Given the description of an element on the screen output the (x, y) to click on. 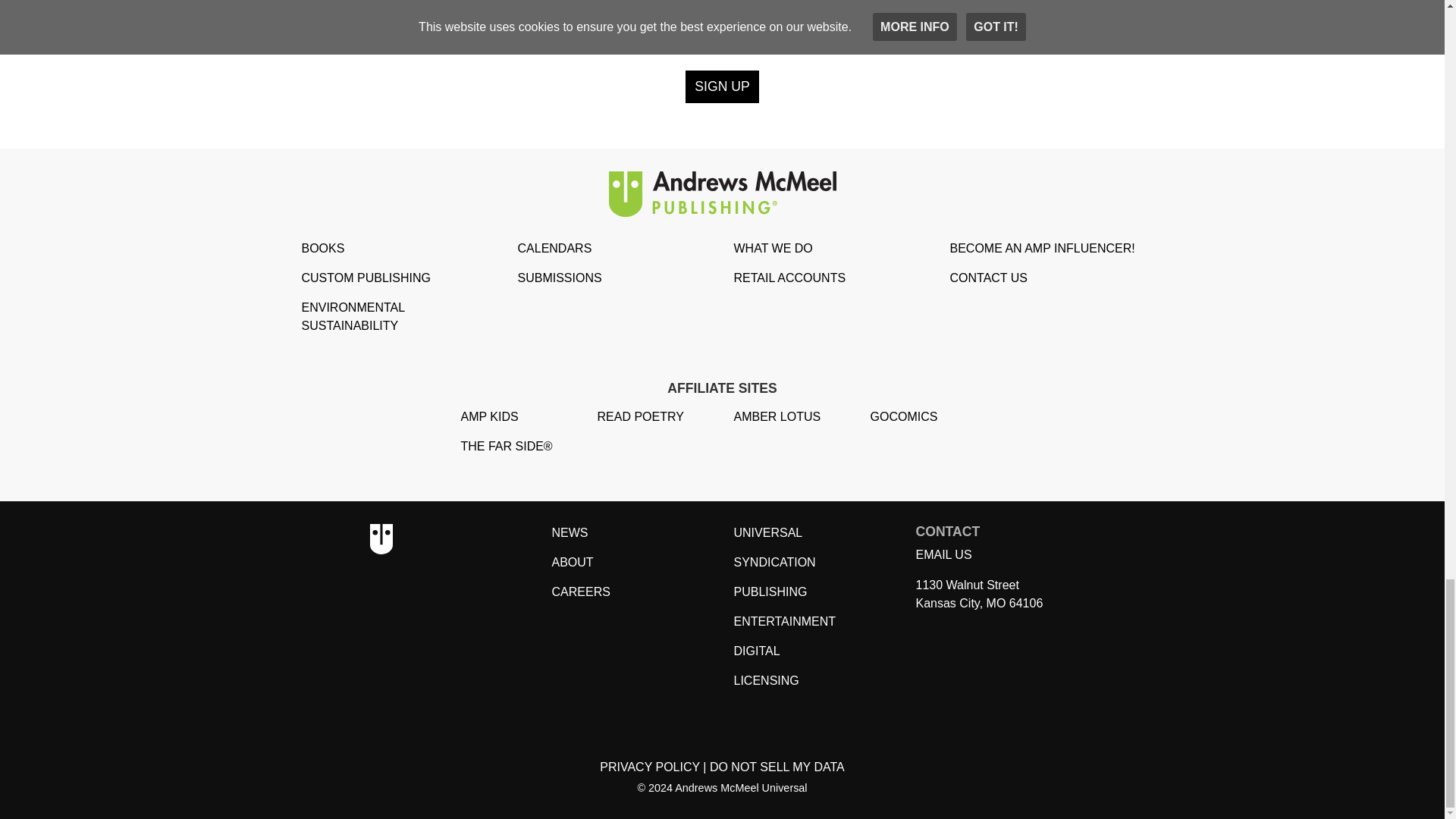
reCAPTCHA (721, 24)
SIGN UP (721, 86)
Privacy Policy (649, 766)
Privacy Policy (777, 766)
